Given the description of an element on the screen output the (x, y) to click on. 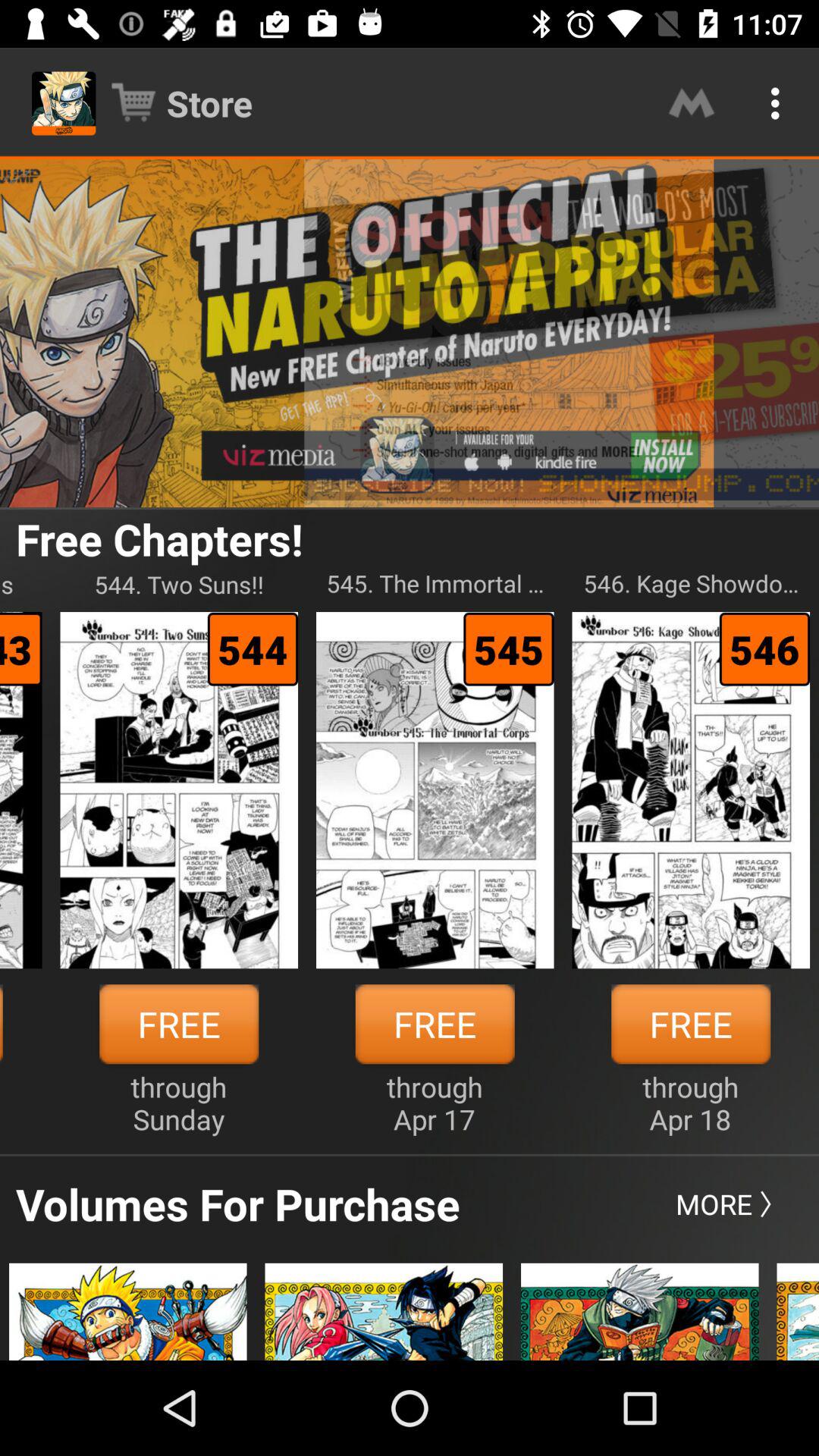
press the 545 the immortal icon (435, 584)
